Given the description of an element on the screen output the (x, y) to click on. 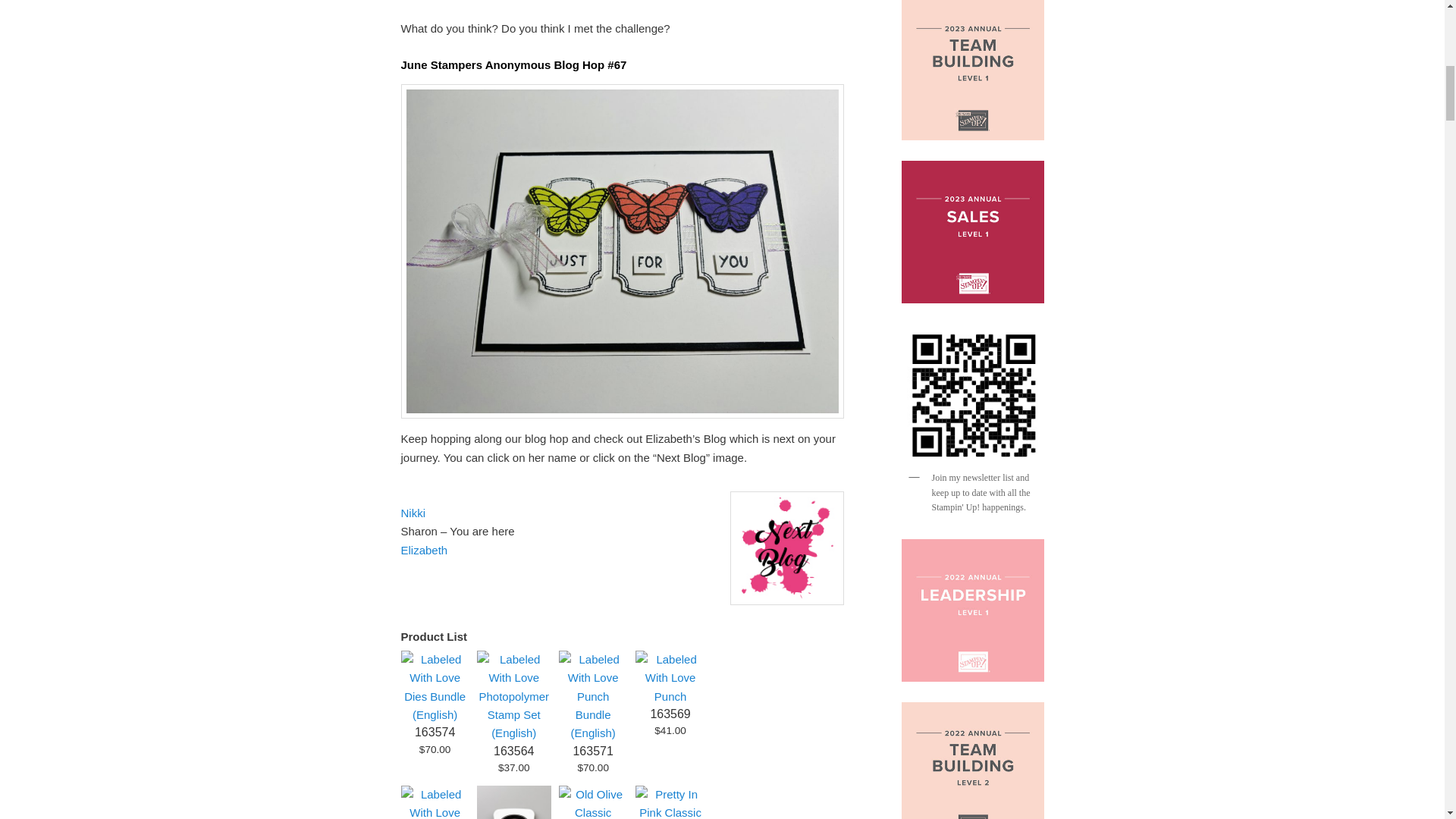
163569 (669, 713)
Labeled With Love Punch (669, 713)
Labeled With Love Punch (670, 696)
Nikki (412, 512)
Elizabeth (423, 549)
Labeled With Love Dies (434, 802)
163564 (513, 750)
163574 (434, 731)
Labeled With Love Punch (670, 677)
163571 (592, 750)
